Given the description of an element on the screen output the (x, y) to click on. 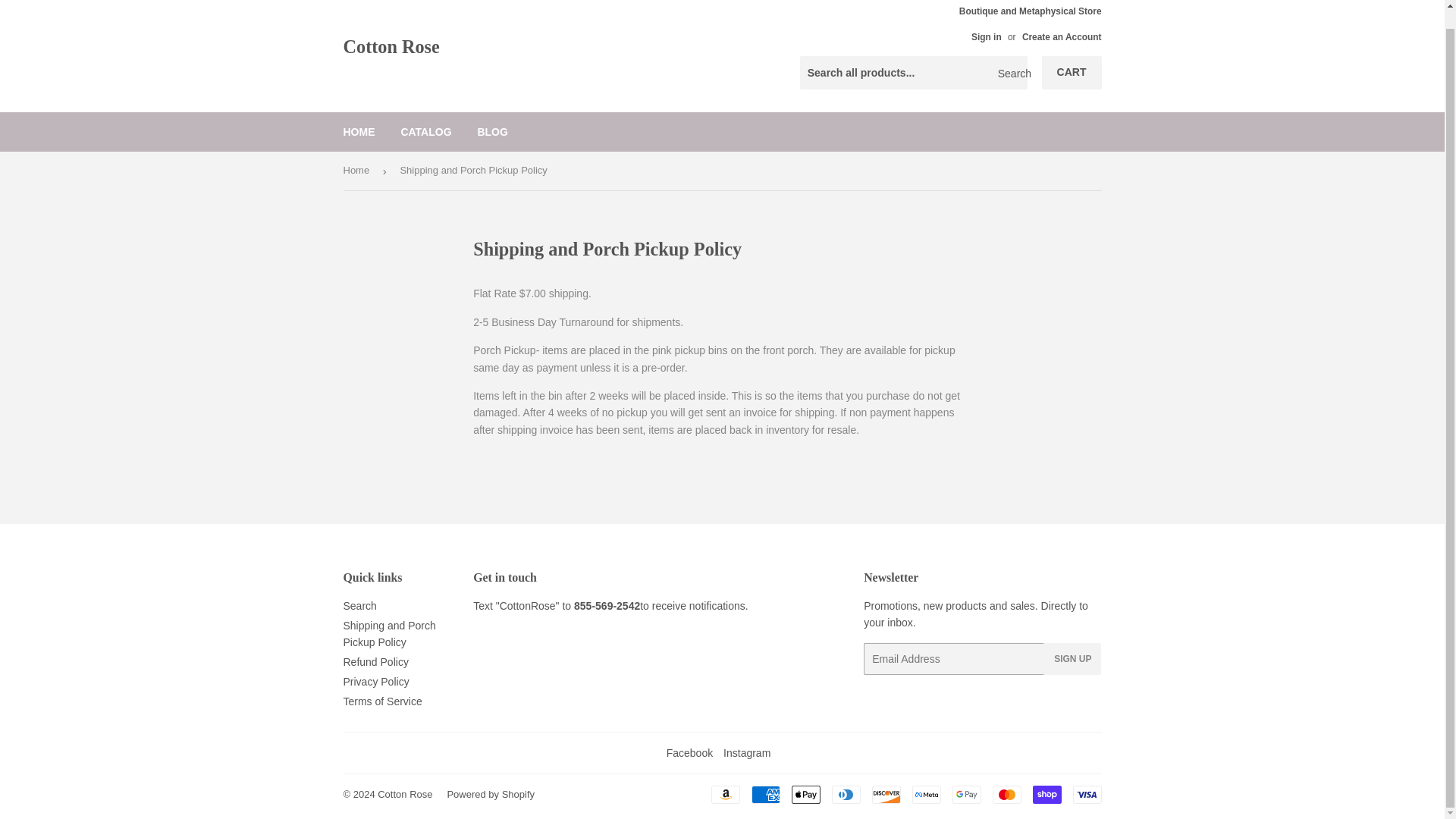
Terms of Service (382, 701)
Mastercard (1005, 794)
Meta Pay (925, 794)
Amazon (725, 794)
American Express (764, 794)
Boutique and Metaphysical Store (1030, 23)
Refund Policy (374, 662)
CART (1072, 72)
Privacy Policy (375, 681)
Cotton Rose  on Facebook (689, 752)
CATALOG (425, 131)
Apple Pay (806, 794)
Diners Club (845, 794)
Cotton Rose (404, 794)
SIGN UP (1071, 658)
